Given the description of an element on the screen output the (x, y) to click on. 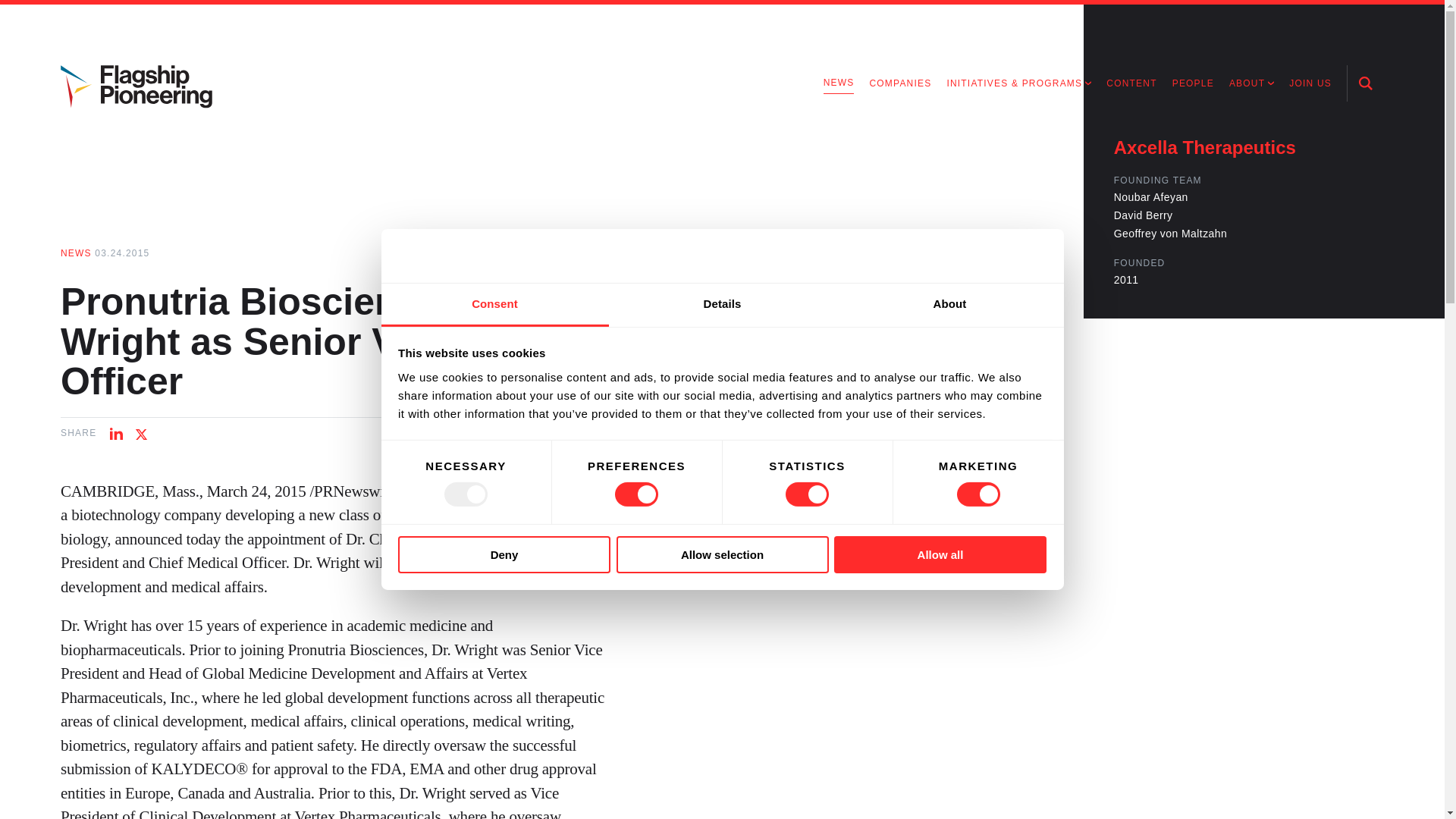
Consent (494, 304)
Details (721, 304)
About (948, 304)
